Given the description of an element on the screen output the (x, y) to click on. 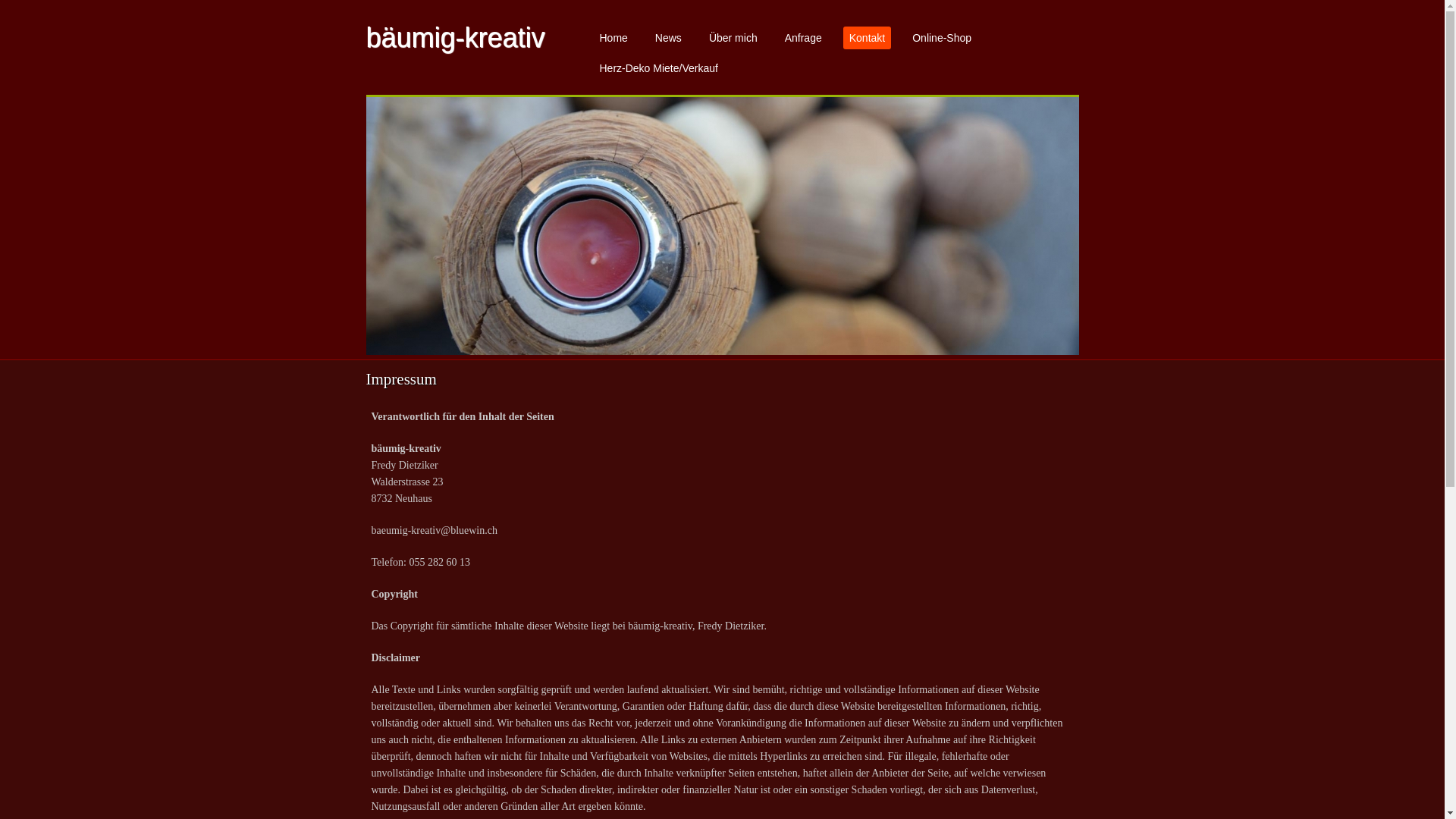
Kontakt Element type: text (867, 37)
Home Element type: text (613, 37)
Online-Shop Element type: text (941, 37)
Anfrage Element type: text (803, 37)
News Element type: text (668, 37)
Herz-Deko Miete/Verkauf Element type: text (658, 67)
